Given the description of an element on the screen output the (x, y) to click on. 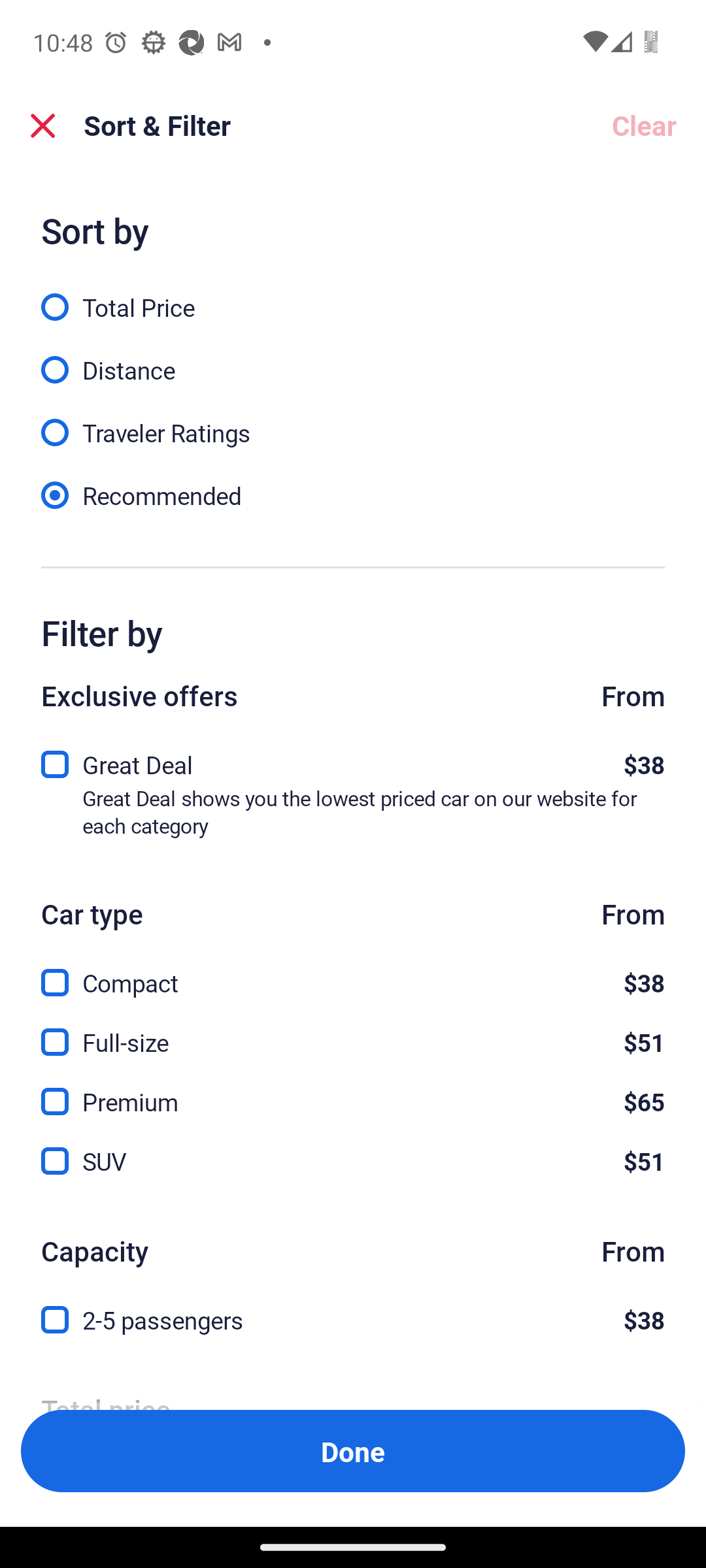
Clear (643, 125)
Close Sort and Filter (43, 125)
Total Price (352, 295)
Distance (352, 358)
Traveler Ratings (352, 421)
Compact, $38 Compact $38 (352, 971)
Full-size, $51 Full-size $51 (352, 1031)
Premium, $65 Premium $65 (352, 1091)
SUV, $51 SUV $51 (352, 1161)
2-5 passengers, $38 2-5 passengers $38 (352, 1320)
Apply and close Sort and Filter Done (352, 1450)
